Given the description of an element on the screen output the (x, y) to click on. 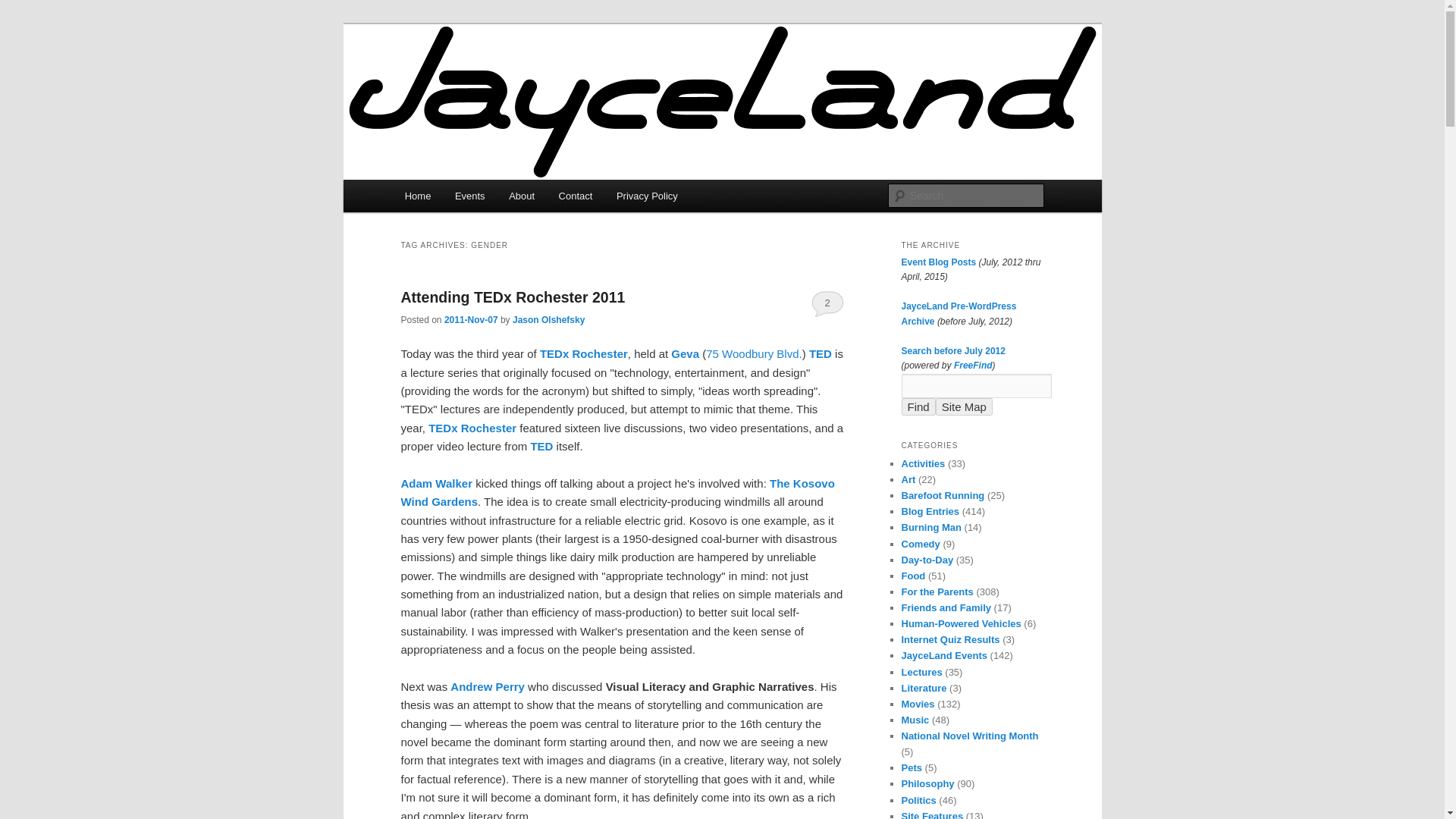
2011-Nov-07 (470, 319)
TEDx Rochester (583, 353)
TED (820, 353)
The Kosovo Wind Gardens (617, 491)
75 Woodbury Blvd. (754, 353)
About (521, 195)
Search (24, 8)
JayceLand (459, 78)
2 (827, 302)
18:00 (470, 319)
Home (417, 195)
TEDx Rochester (472, 427)
Adam Walker (435, 482)
Find (917, 406)
